Given the description of an element on the screen output the (x, y) to click on. 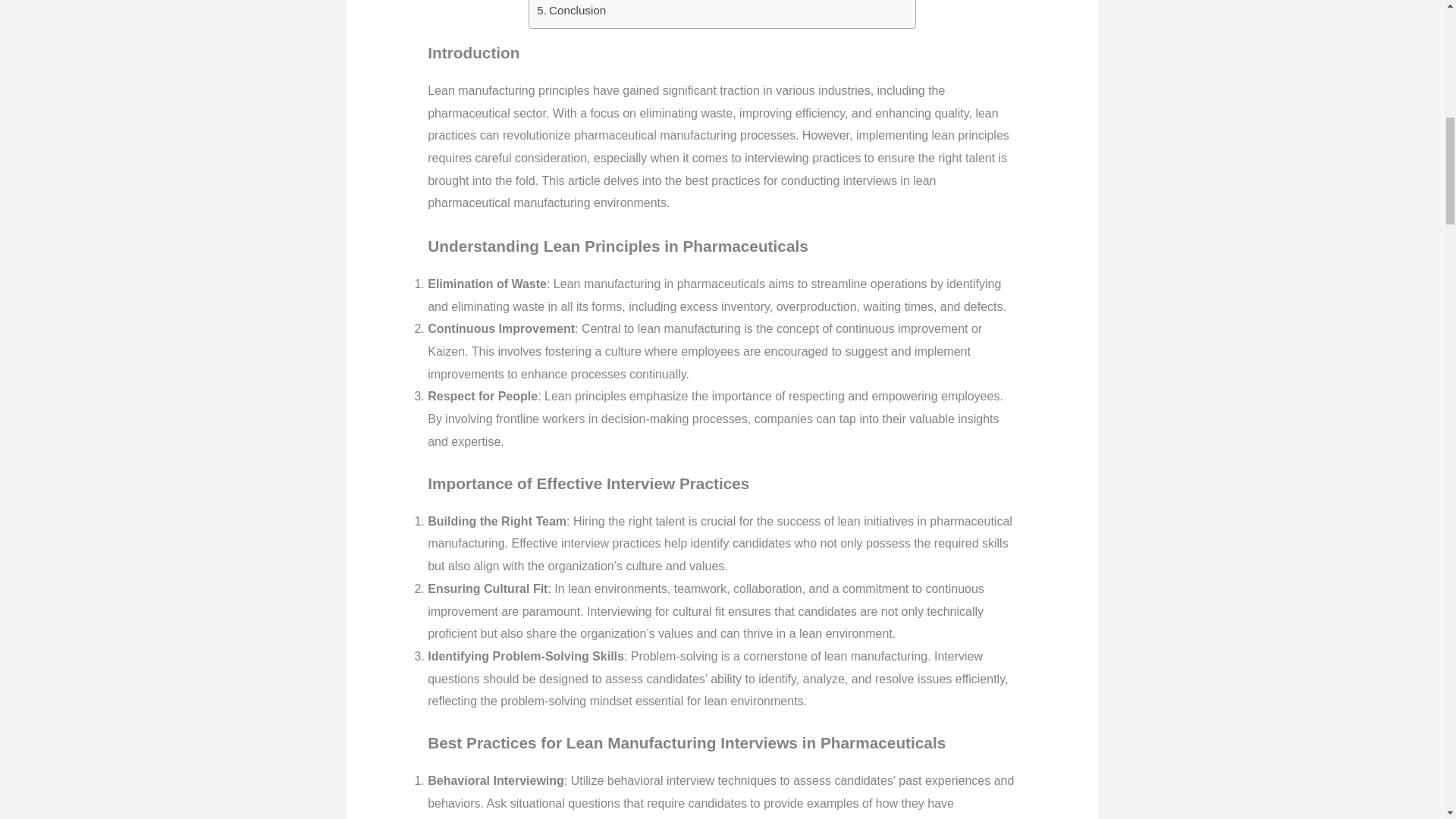
Conclusion (571, 10)
Conclusion (571, 10)
